Given the description of an element on the screen output the (x, y) to click on. 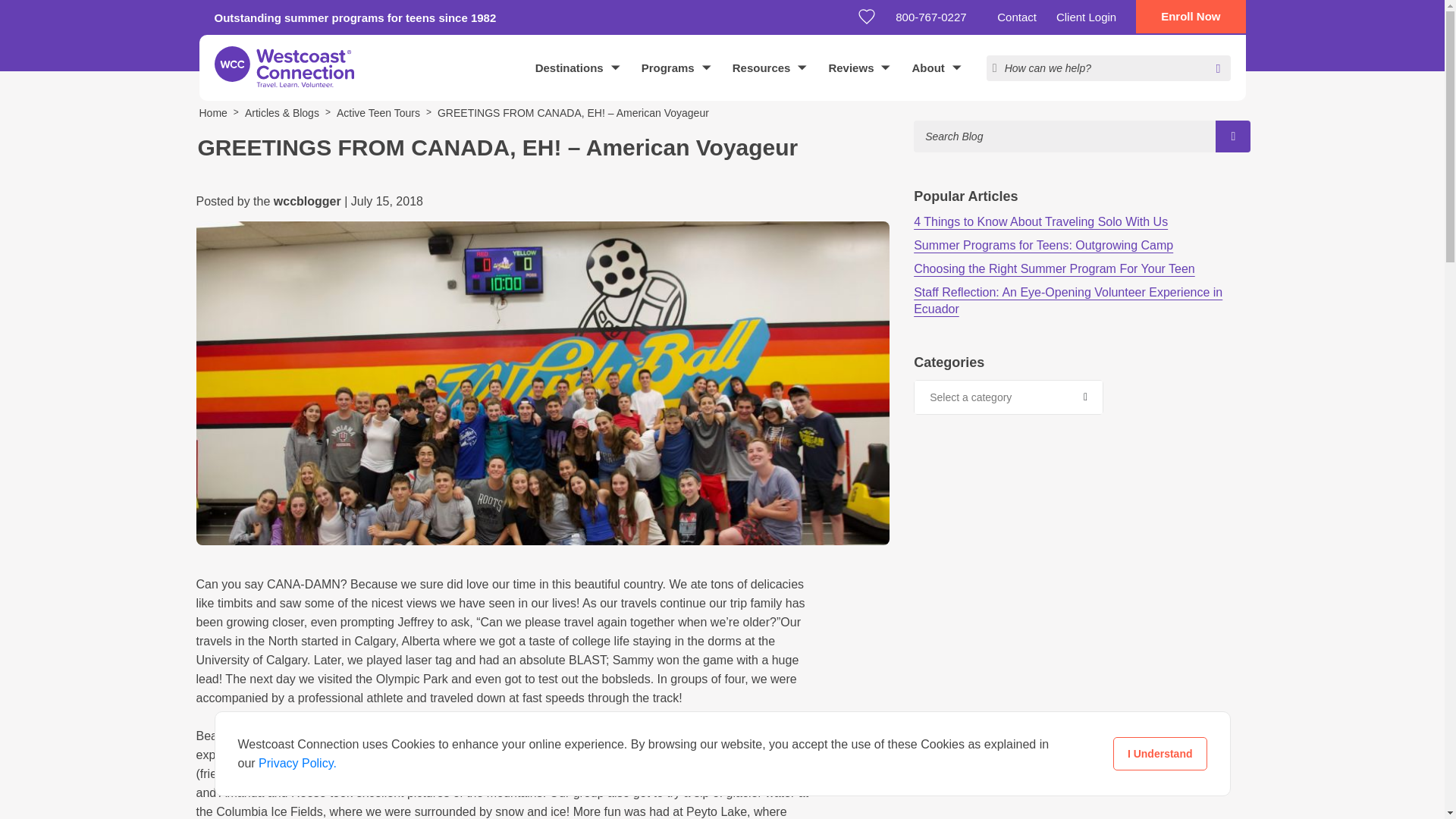
Destinations (577, 67)
Go to the Active Teen Tours category archives. (378, 112)
Contact (1016, 16)
800-767-0227 (936, 16)
Posts about 4 Things to Know About Traveling Solo With Us (1040, 221)
Return to the Homepage (283, 67)
Posts about Choosing the Right Summer Program For Your Teen (1054, 268)
Enroll Now (1189, 16)
Posts about Summer Programs for Teens: Outgrowing Camp (1043, 245)
Client Login (1085, 16)
Go to Westcoast Connection. (212, 112)
Enroll Now (1189, 16)
